Given the description of an element on the screen output the (x, y) to click on. 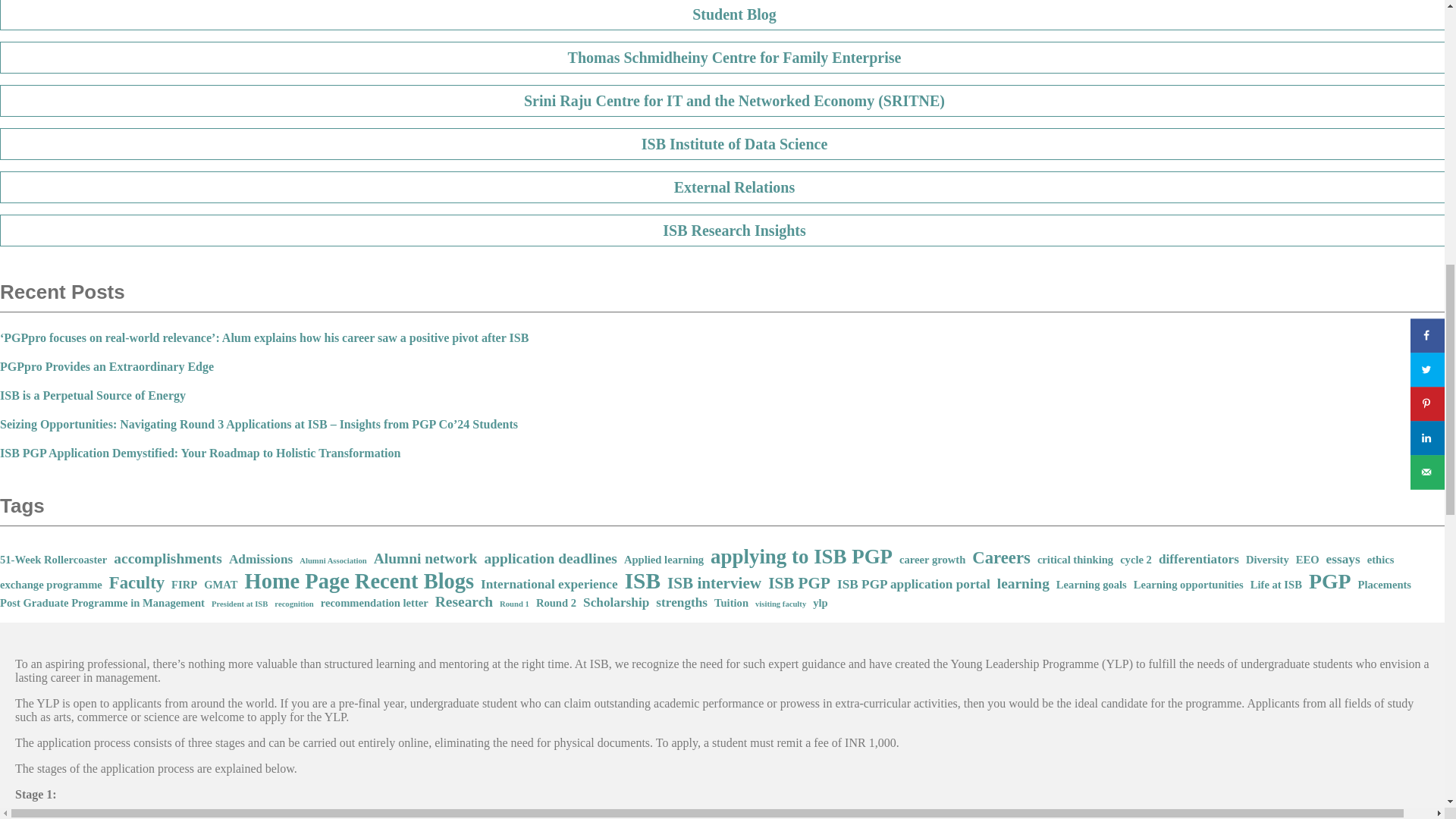
accomplishments (167, 558)
External Relations (728, 187)
Applied learning (663, 559)
ISB Institute of Data Science (728, 143)
ethics (1380, 559)
Thomas Schmidheiny Centre for Family Enterprise (728, 57)
exchange programme (50, 584)
essays (1342, 559)
application deadlines (550, 558)
applying to ISB PGP (801, 556)
Home Page Recent Blogs (359, 581)
51-Week Rollercoaster (53, 559)
Diversity (1267, 559)
PGPpro Provides an Extraordinary Edge (107, 366)
